Given the description of an element on the screen output the (x, y) to click on. 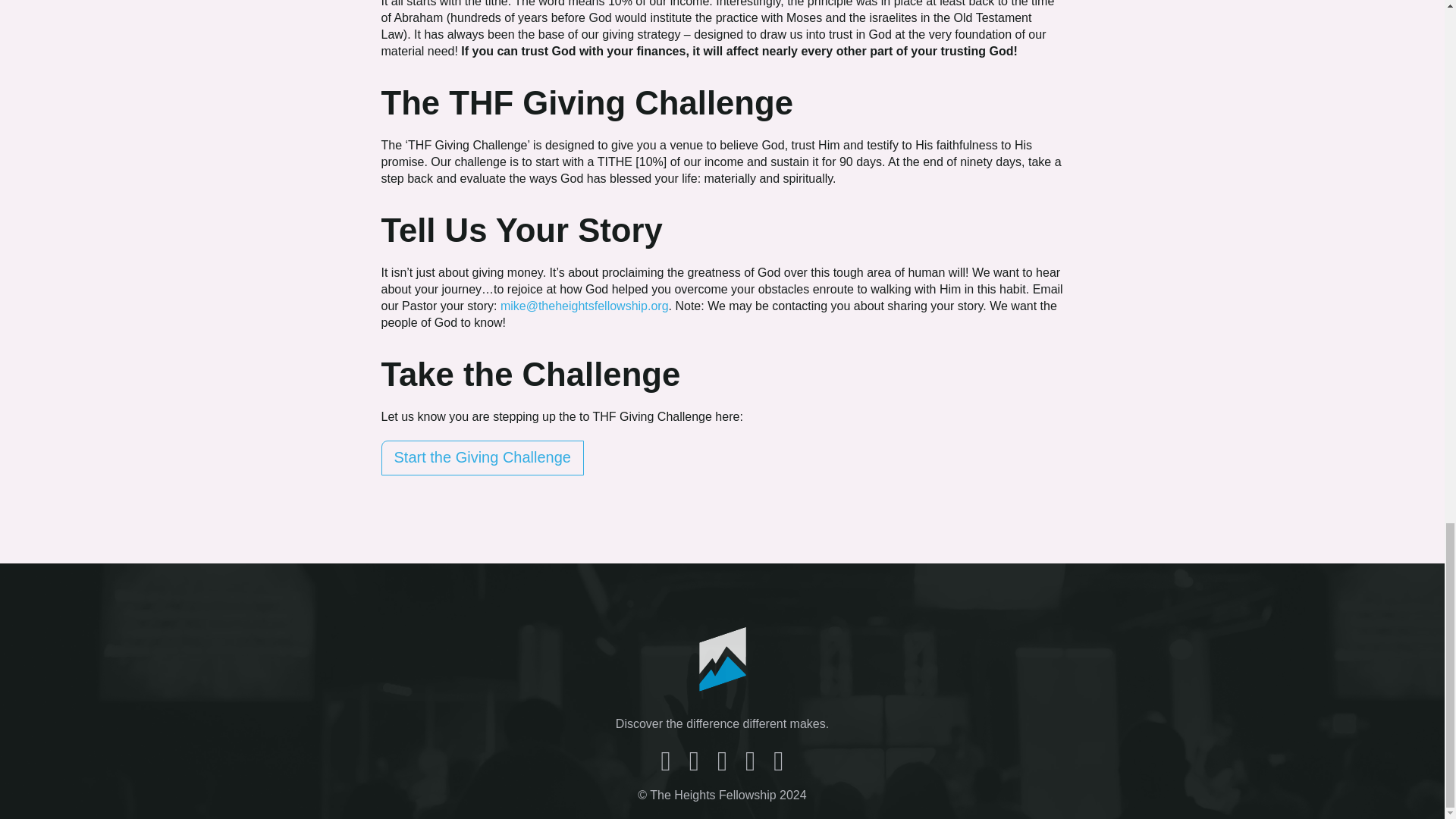
Start the Giving Challenge (481, 457)
